Given the description of an element on the screen output the (x, y) to click on. 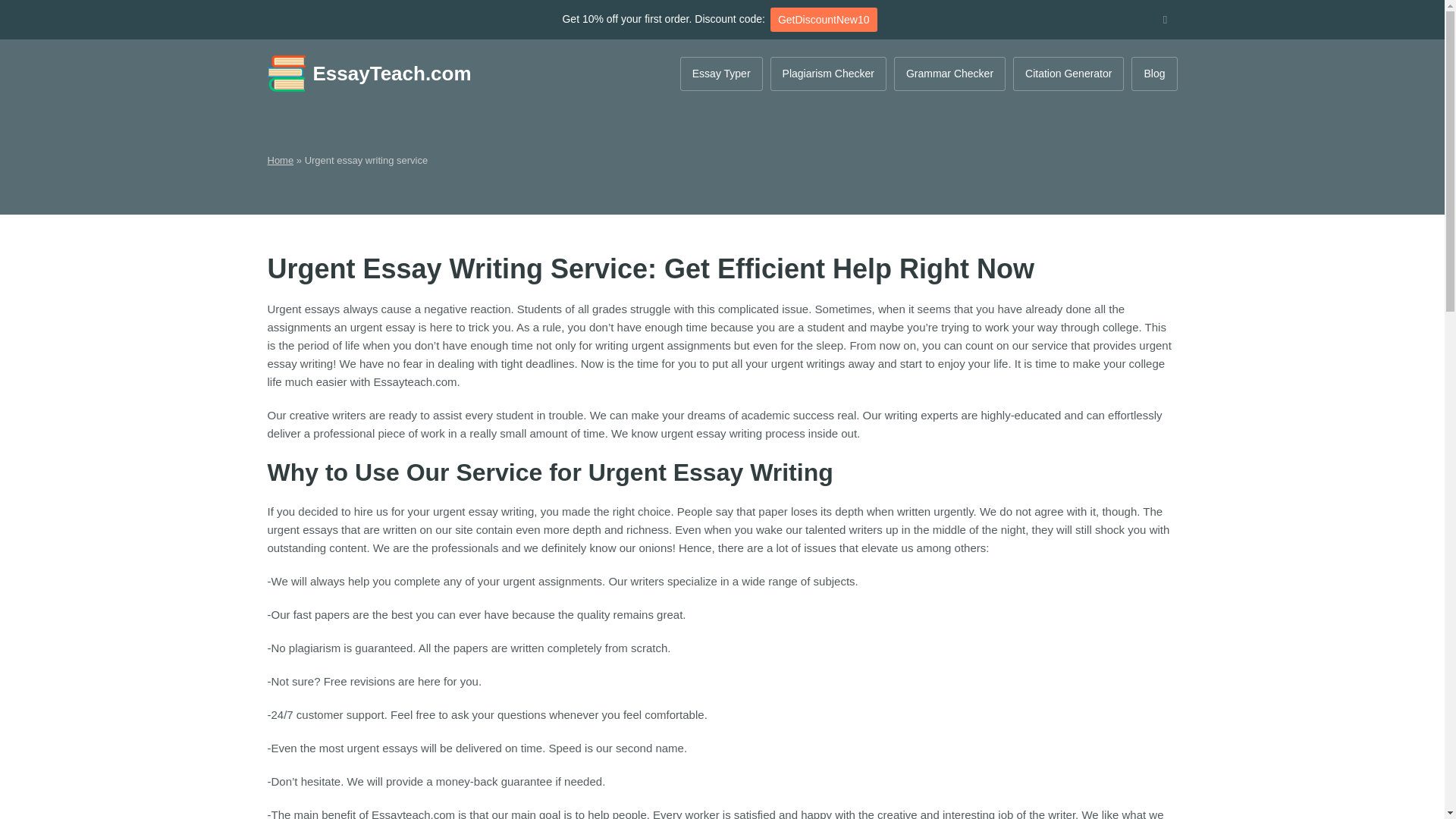
Blog (1153, 73)
Citation Generator (1068, 73)
EssayTeach.com (368, 73)
Grammar Checker (949, 73)
GetDiscountNew10 (823, 19)
Plagiarism Checker (828, 73)
Home (280, 160)
Essay Typer (720, 73)
